Given the description of an element on the screen output the (x, y) to click on. 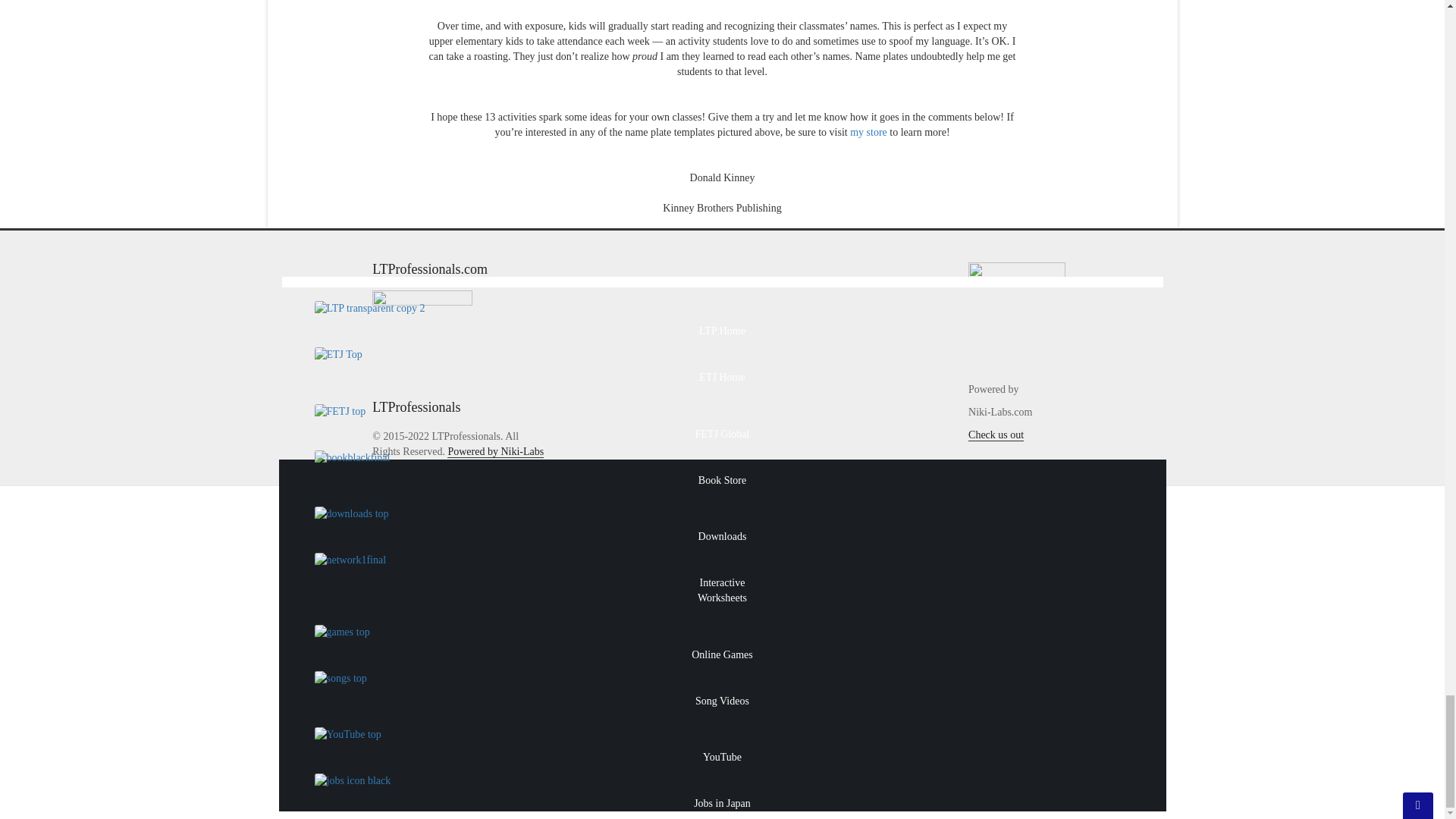
my store (868, 132)
